Given the description of an element on the screen output the (x, y) to click on. 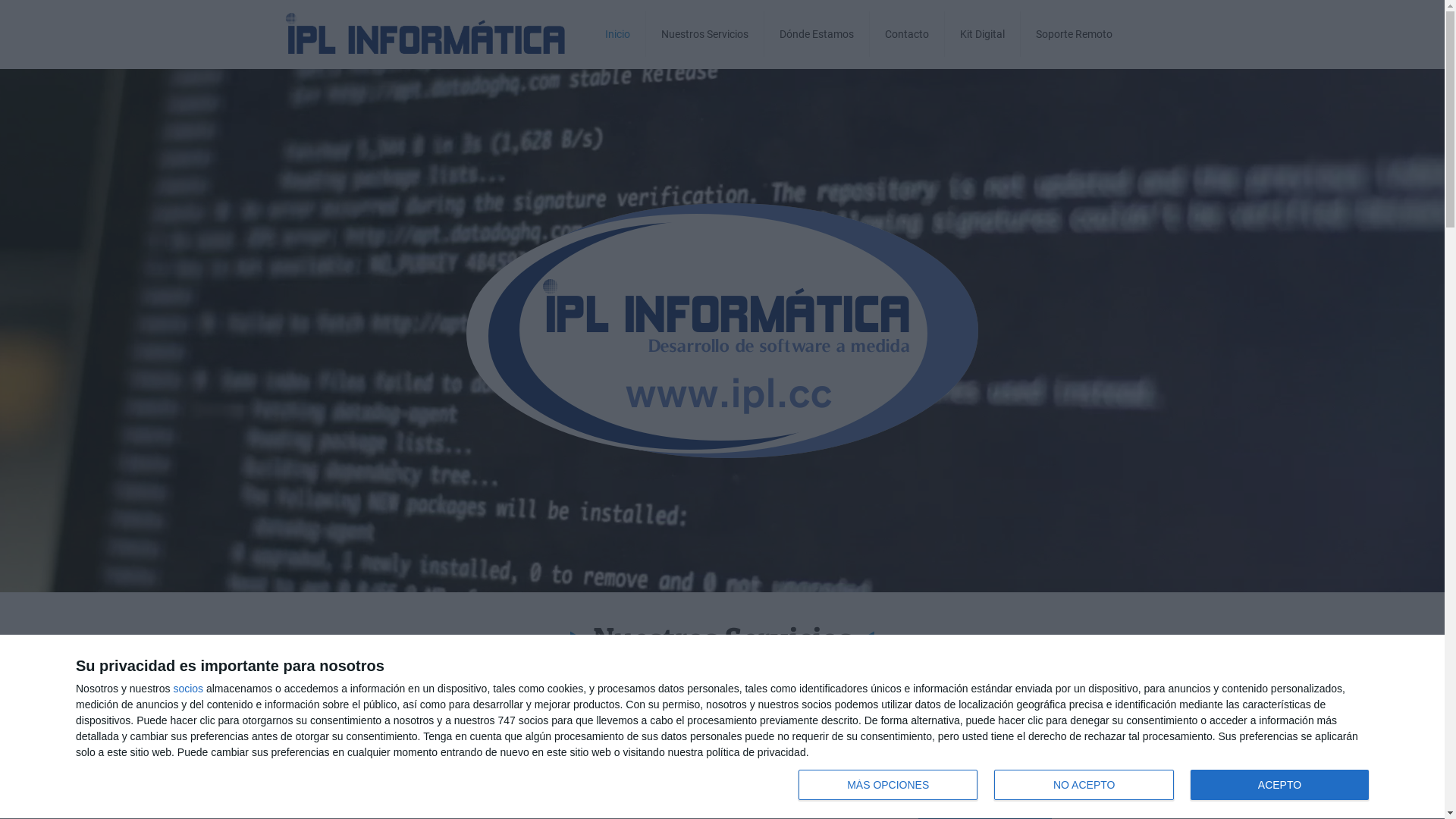
Soporte Remoto Element type: text (1073, 34)
Inicio Element type: text (617, 34)
NO ACEPTO Element type: text (1083, 784)
IPL INFORMATICA Element type: hover (425, 34)
Contacto Element type: text (906, 34)
WhatsApp Element type: hover (30, 788)
socios Element type: text (187, 688)
Kit Digital Element type: text (982, 34)
ACEPTO Element type: text (1279, 784)
Nuestros Servicios Element type: text (705, 34)
